Given the description of an element on the screen output the (x, y) to click on. 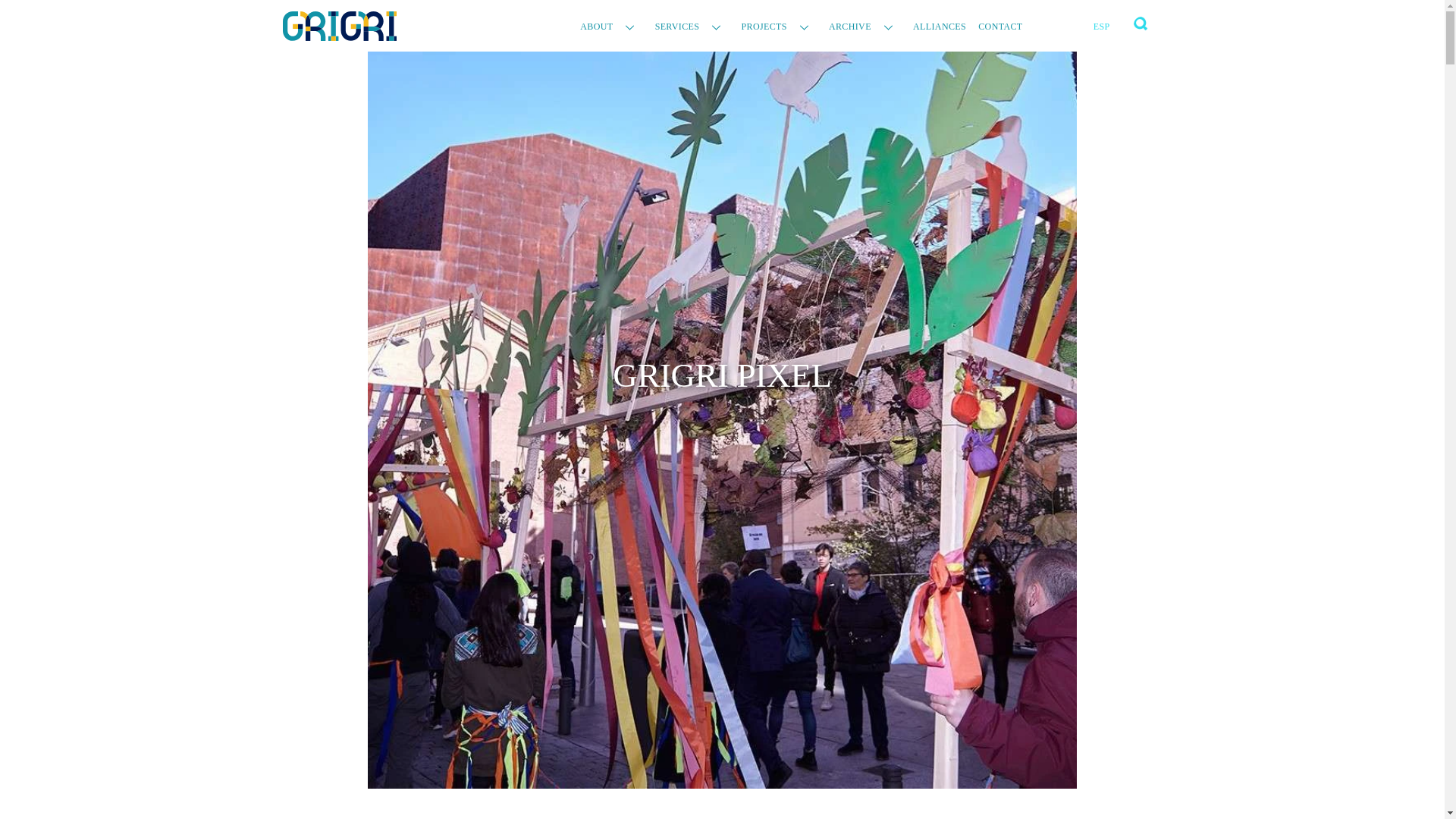
PROJECTS (778, 26)
ABOUT (610, 26)
ARCHIVE (864, 26)
GRIGRI (339, 31)
SERVICES (691, 26)
